Given the description of an element on the screen output the (x, y) to click on. 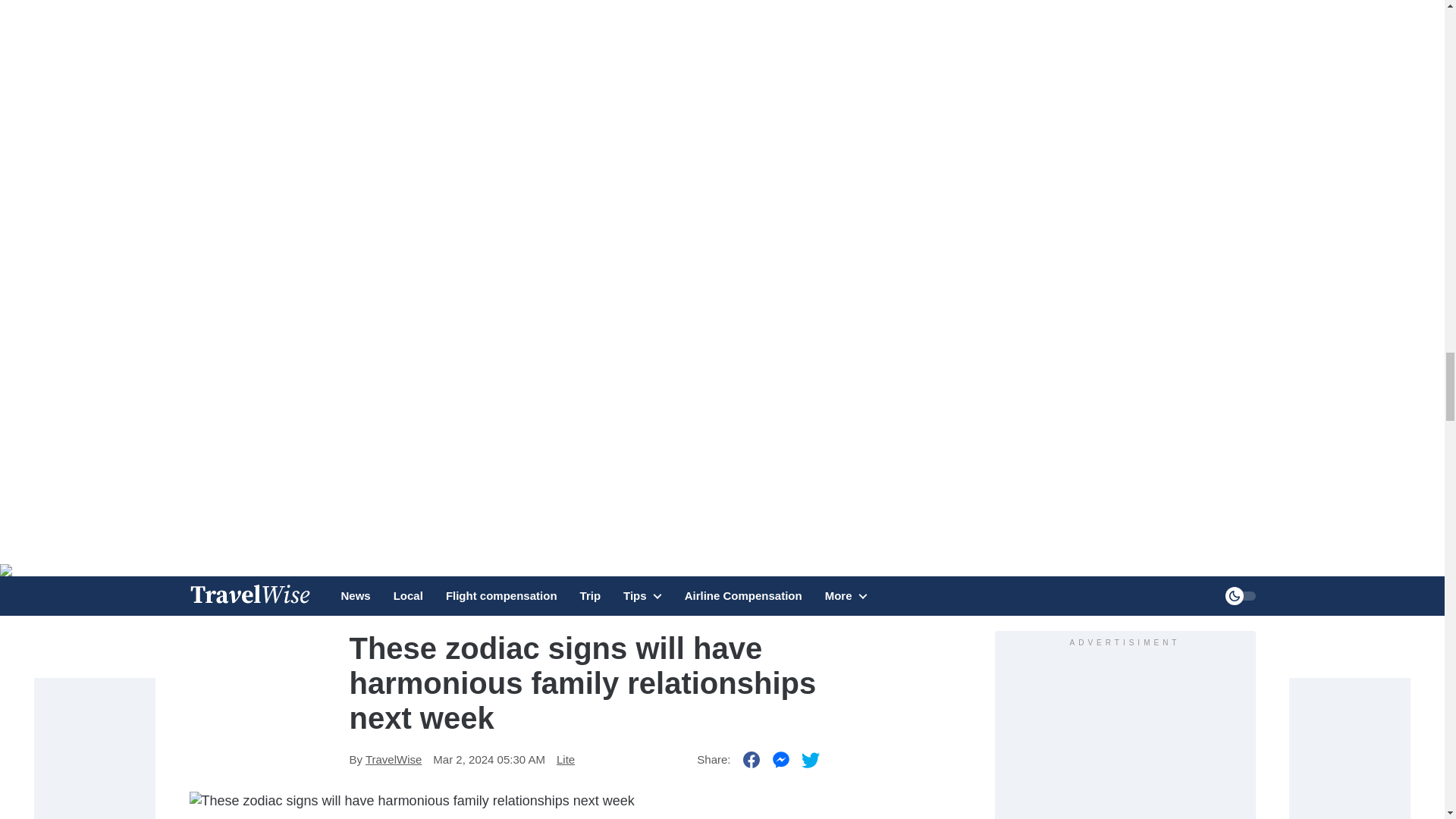
Trip (590, 595)
Flight compensation (501, 595)
Local (408, 595)
Tips (642, 603)
Airline Compensation (743, 595)
News (355, 595)
